Given the description of an element on the screen output the (x, y) to click on. 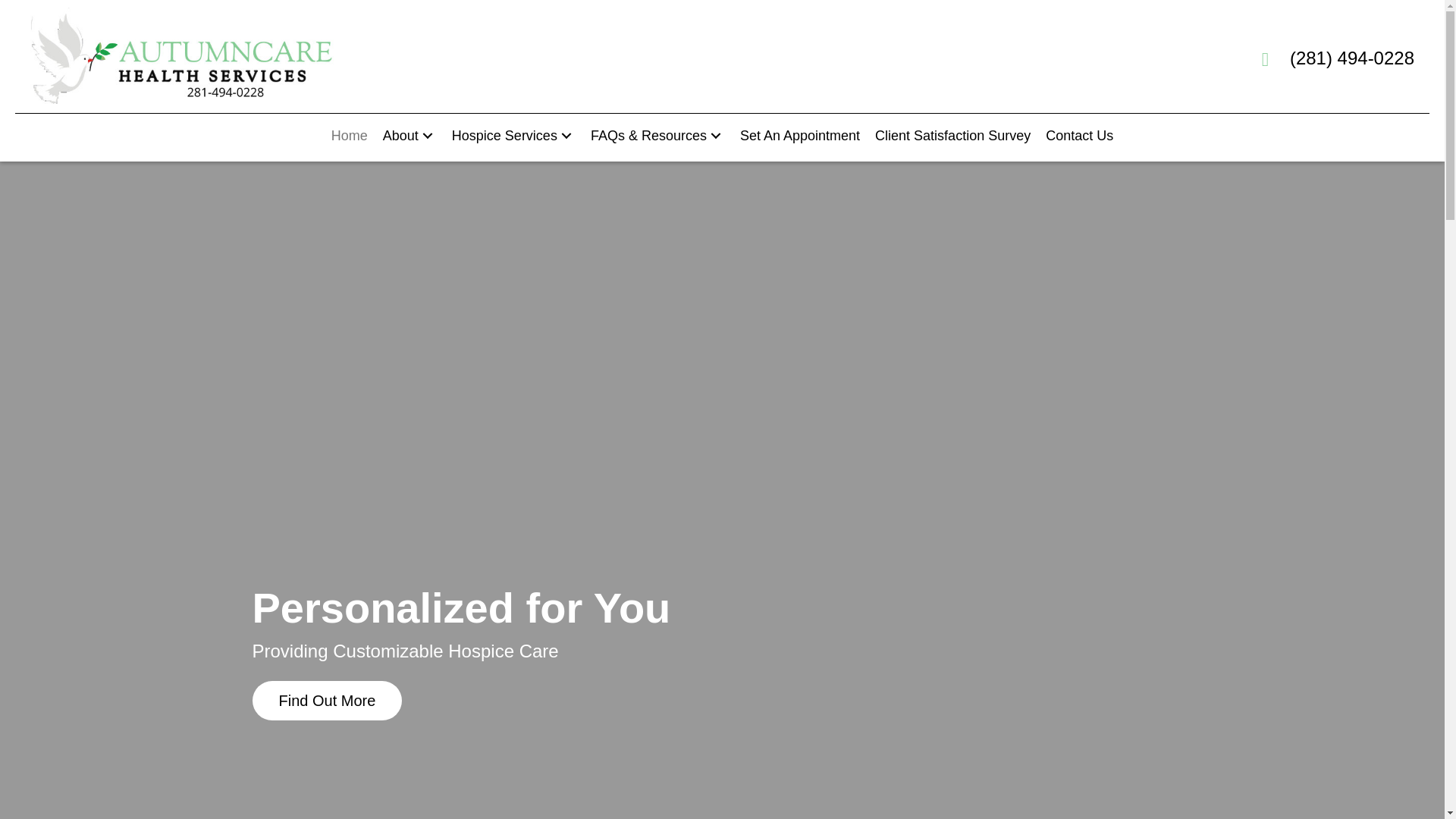
Home (349, 135)
Hospice Services (513, 135)
Contact Us (1079, 135)
Client Satisfaction Survey (952, 135)
Set An Appointment (799, 135)
About (409, 135)
